Given the description of an element on the screen output the (x, y) to click on. 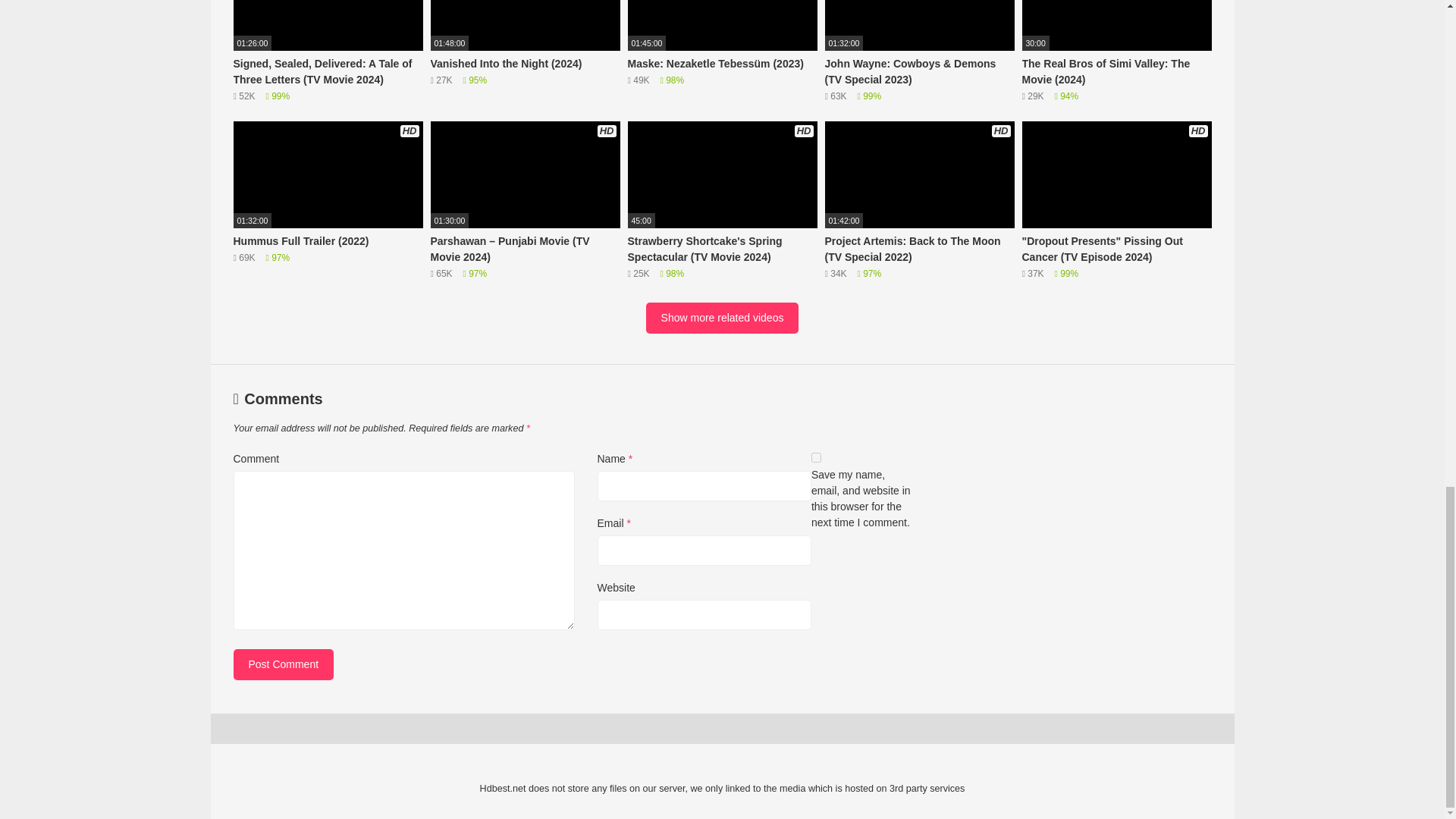
Post Comment (283, 664)
yes (815, 457)
